Given the description of an element on the screen output the (x, y) to click on. 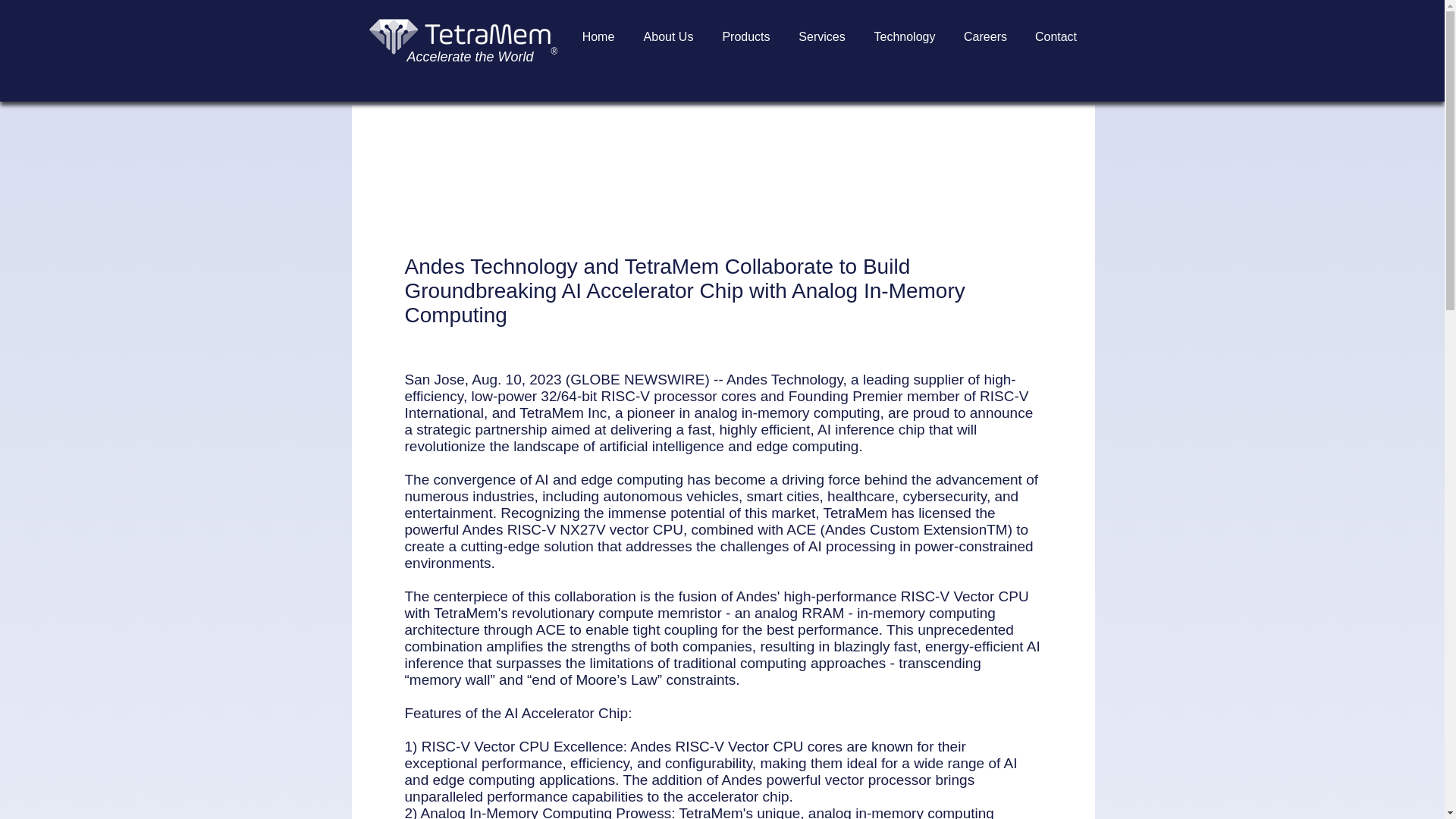
About Us (667, 36)
Technology (905, 36)
Careers (984, 36)
Services (821, 36)
Products (745, 36)
Horizontal-White.png (459, 36)
Contact (1055, 36)
Home (597, 36)
